Given the description of an element on the screen output the (x, y) to click on. 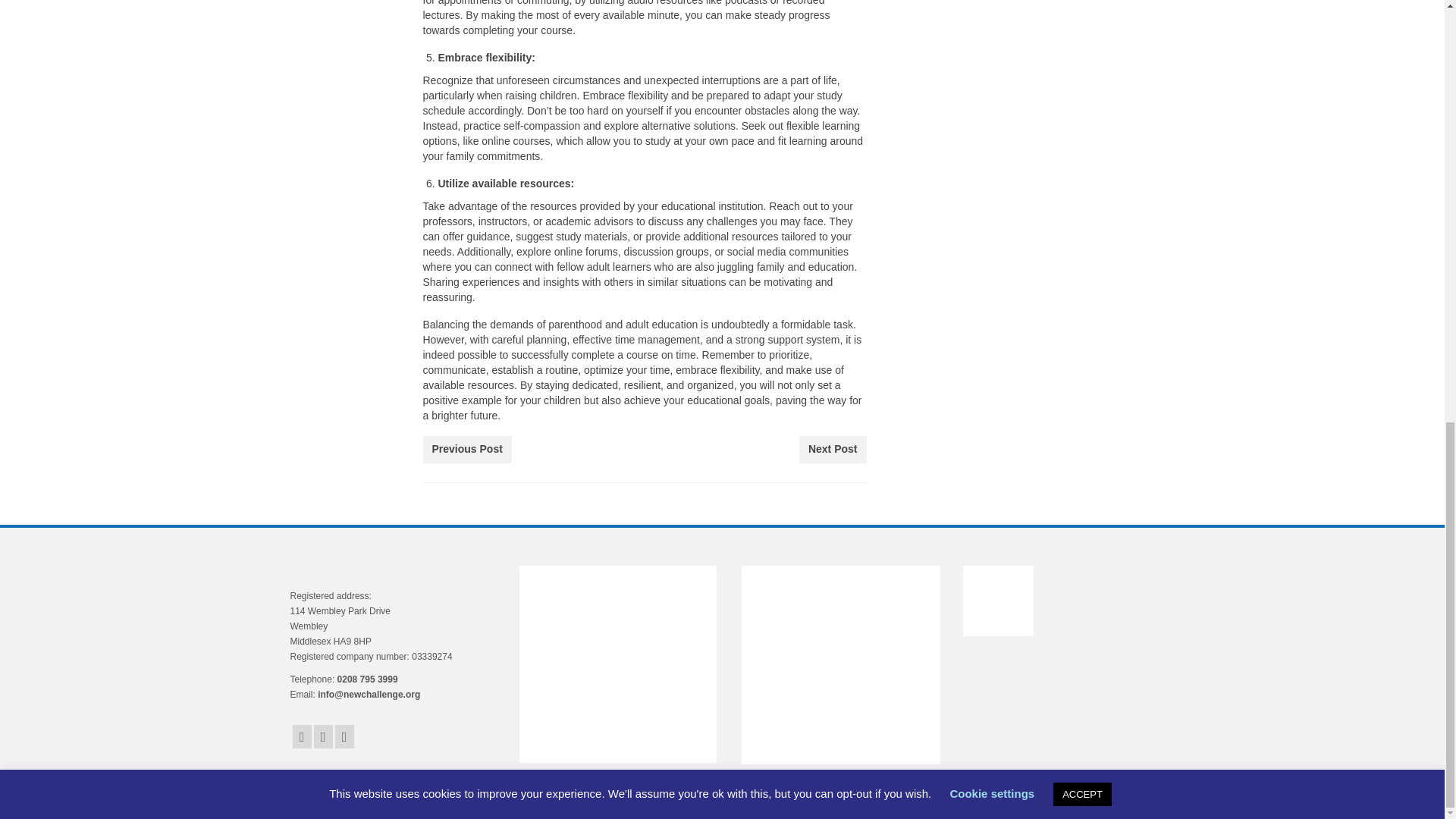
0208 795 3999 (367, 679)
Privacy Policy (395, 795)
Next Post (832, 449)
Previous Post (467, 449)
